Given the description of an element on the screen output the (x, y) to click on. 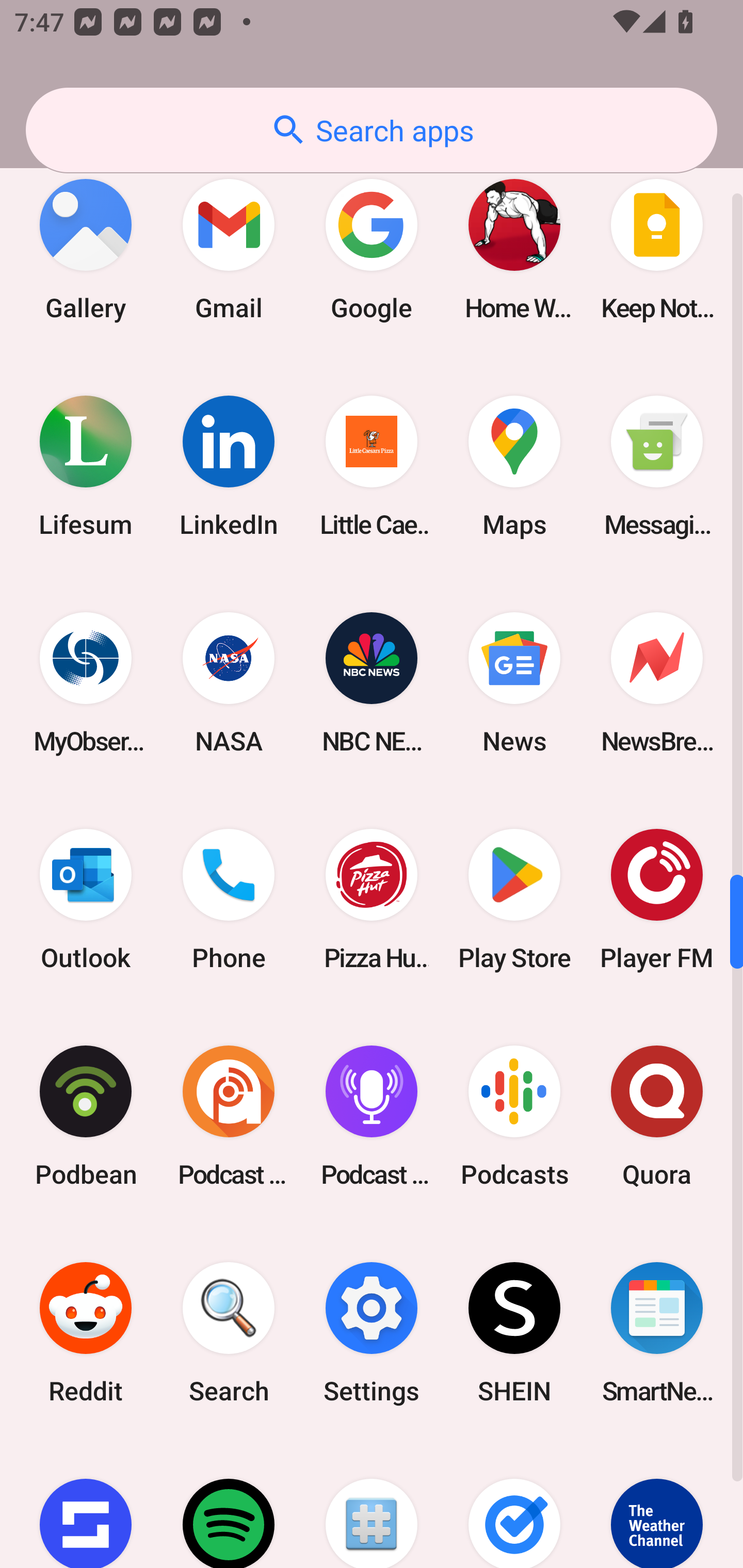
  Search apps (371, 130)
Gallery (85, 249)
Gmail (228, 249)
Google (371, 249)
Home Workout (514, 249)
Keep Notes (656, 249)
Lifesum (85, 465)
LinkedIn (228, 465)
Little Caesars Pizza (371, 465)
Maps (514, 465)
Messaging (656, 465)
MyObservatory (85, 682)
NASA (228, 682)
NBC NEWS (371, 682)
News (514, 682)
NewsBreak (656, 682)
Outlook (85, 899)
Phone (228, 899)
Pizza Hut HK & Macau (371, 899)
Play Store (514, 899)
Player FM (656, 899)
Podbean (85, 1116)
Podcast Addict (228, 1116)
Podcast Player (371, 1116)
Podcasts (514, 1116)
Quora (656, 1116)
Reddit (85, 1332)
Search (228, 1332)
Settings (371, 1332)
SHEIN (514, 1332)
SmartNews (656, 1332)
Sofascore (85, 1504)
Spotify (228, 1504)
Superuser (371, 1504)
Tasks (514, 1504)
The Weather Channel (656, 1504)
